Given the description of an element on the screen output the (x, y) to click on. 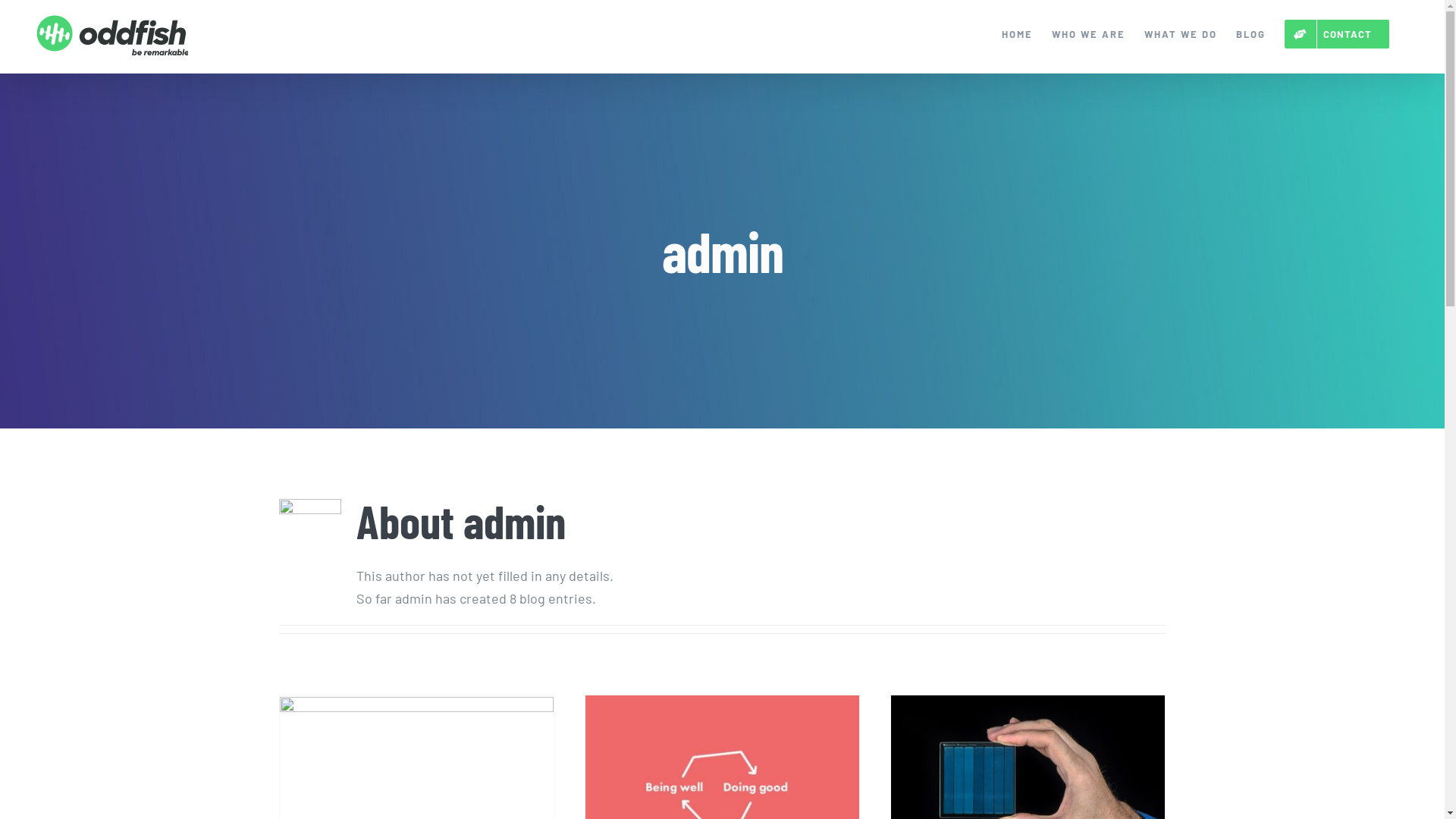
WHAT WE DO Element type: text (1180, 34)
CONTACT Element type: text (1336, 34)
HOME Element type: text (1016, 34)
WHO WE ARE Element type: text (1088, 34)
BLOG Element type: text (1250, 34)
